Given the description of an element on the screen output the (x, y) to click on. 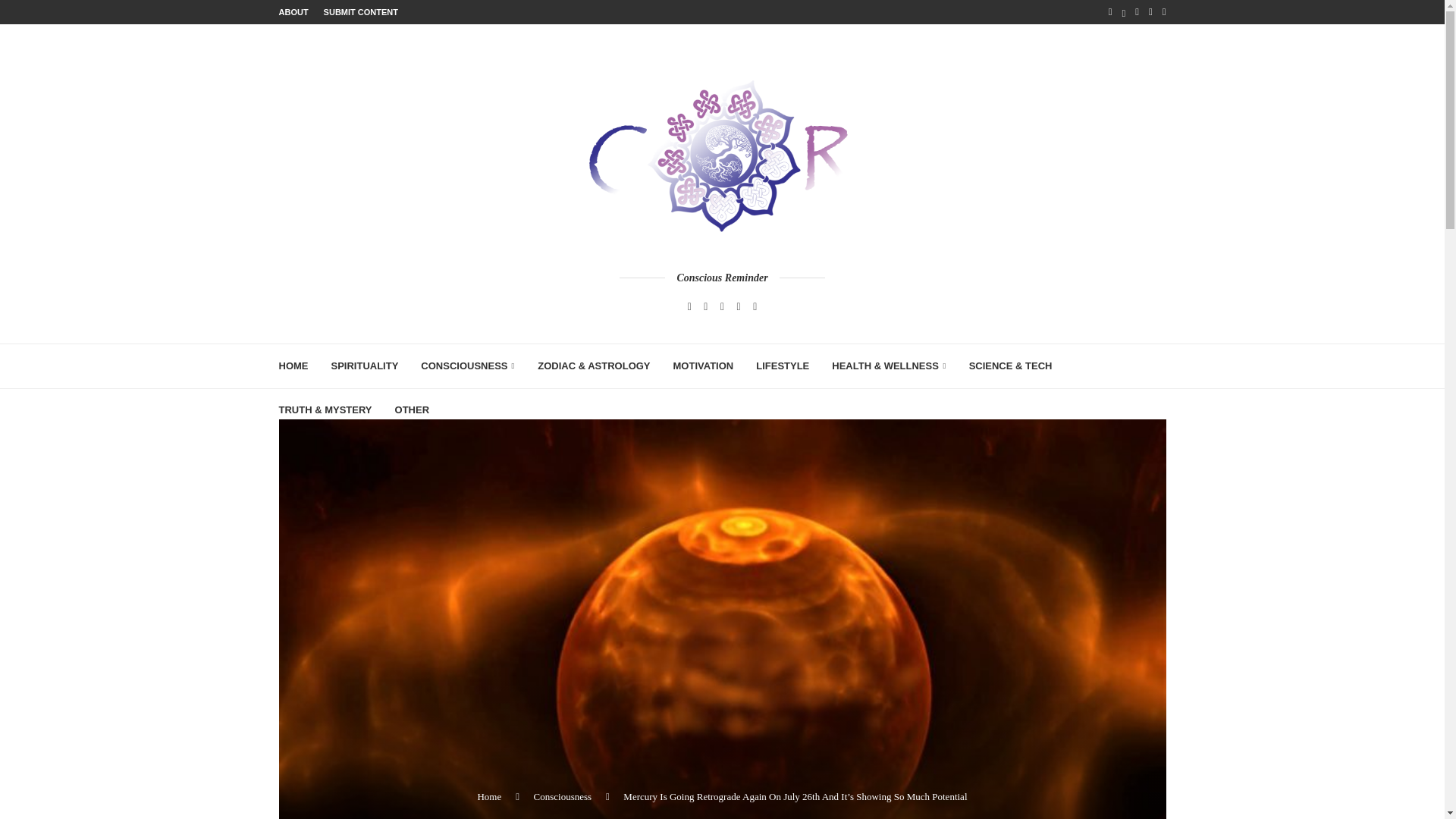
Consciousness (563, 796)
MOTIVATION (702, 365)
CONSCIOUSNESS (467, 365)
SPIRITUALITY (363, 365)
ABOUT (293, 12)
Home (488, 796)
SUBMIT CONTENT (360, 12)
LIFESTYLE (782, 365)
